Given the description of an element on the screen output the (x, y) to click on. 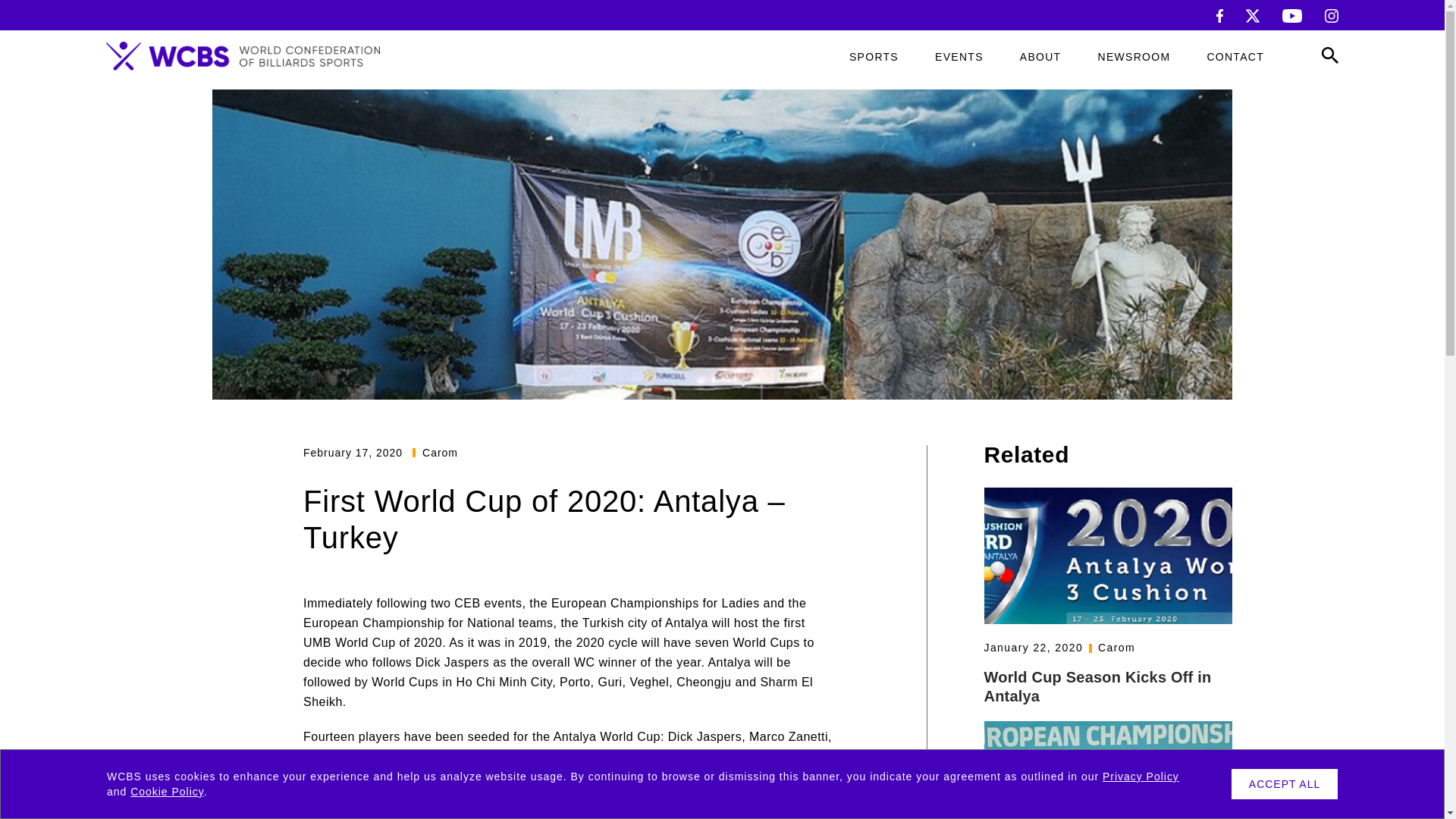
SPORTS (873, 56)
logo-header (243, 55)
ABOUT (1040, 56)
EVENTS (959, 56)
NEWSROOM (1133, 56)
CONTACT (1235, 56)
